Given the description of an element on the screen output the (x, y) to click on. 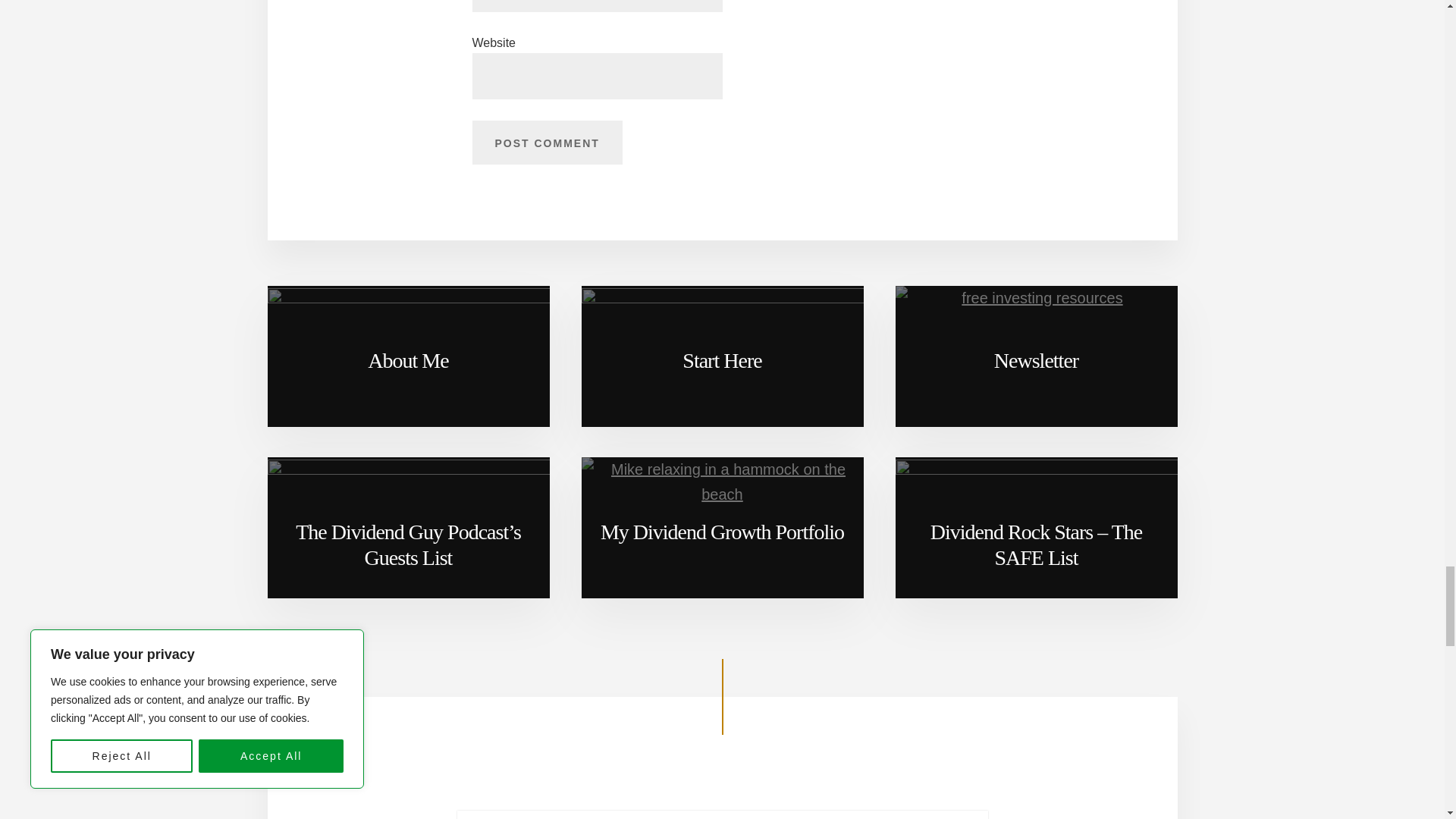
Post Comment (546, 142)
